Given the description of an element on the screen output the (x, y) to click on. 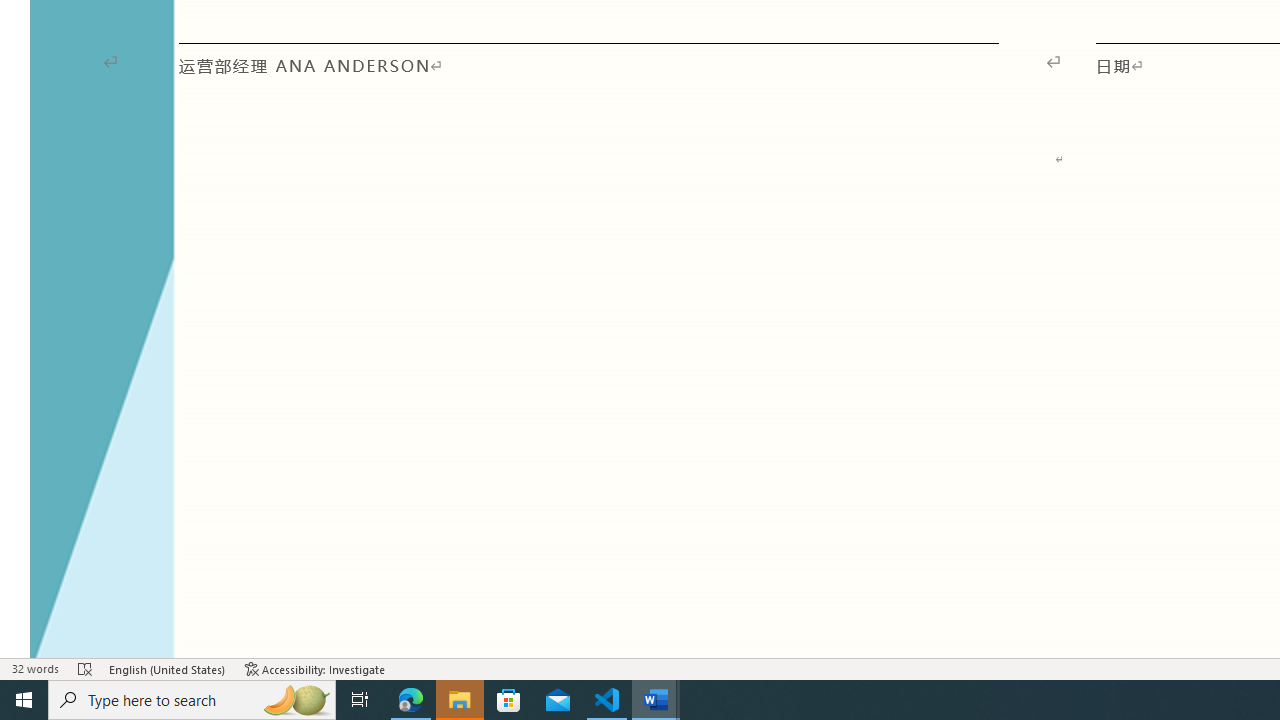
Accessibility Checker Accessibility: Investigate (315, 668)
Word Count 32 words (34, 668)
Language English (United States) (168, 668)
Spelling and Grammar Check Errors (86, 668)
